Given the description of an element on the screen output the (x, y) to click on. 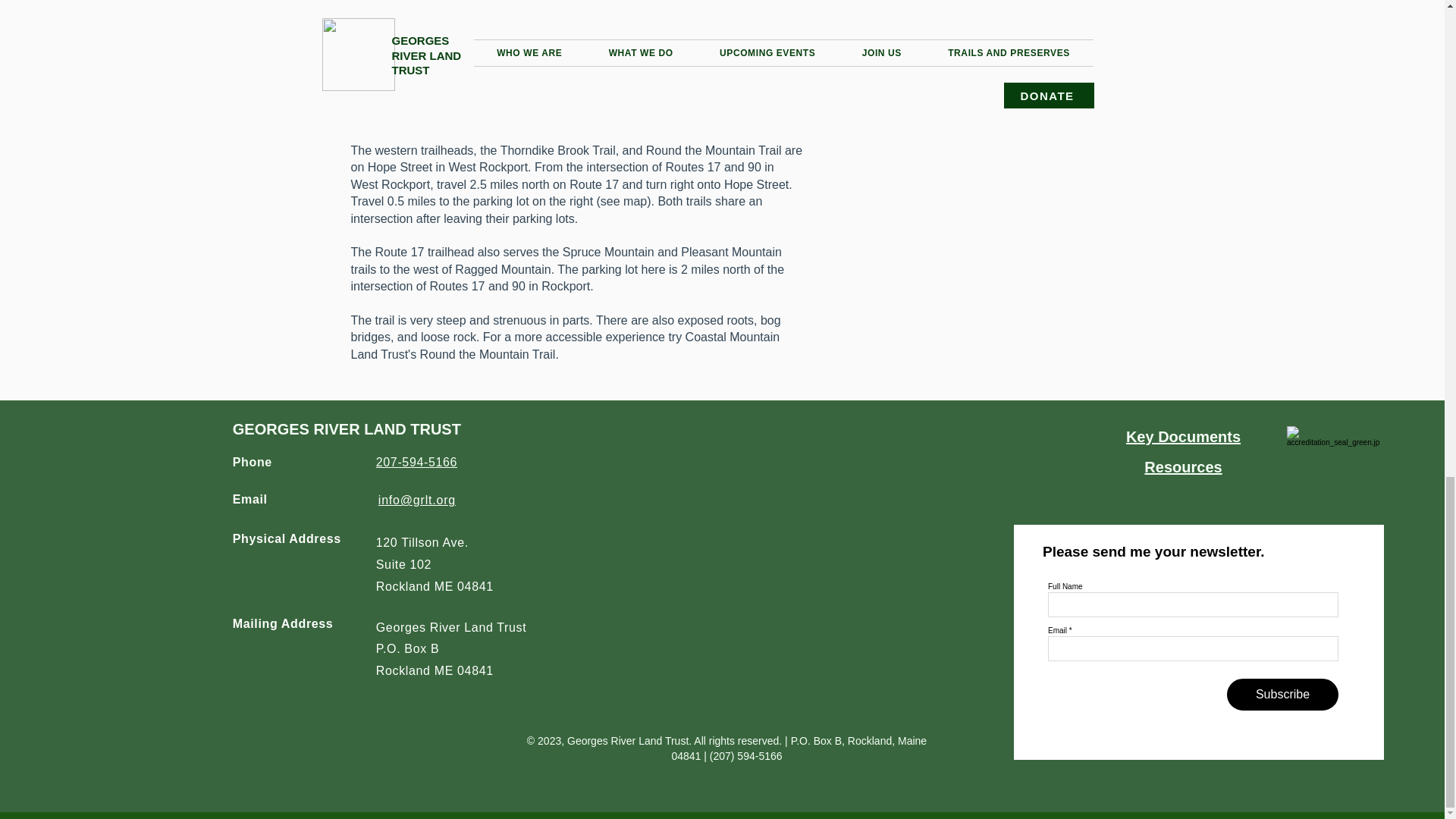
Email (249, 499)
Phone (252, 461)
Subscribe (1282, 694)
207-594-5166 (416, 461)
GEORGES RIVER LAND TRUST (346, 428)
Mailing Address (282, 623)
Resources (1182, 466)
Physical Address (286, 538)
Key Documents (1182, 436)
